Given the description of an element on the screen output the (x, y) to click on. 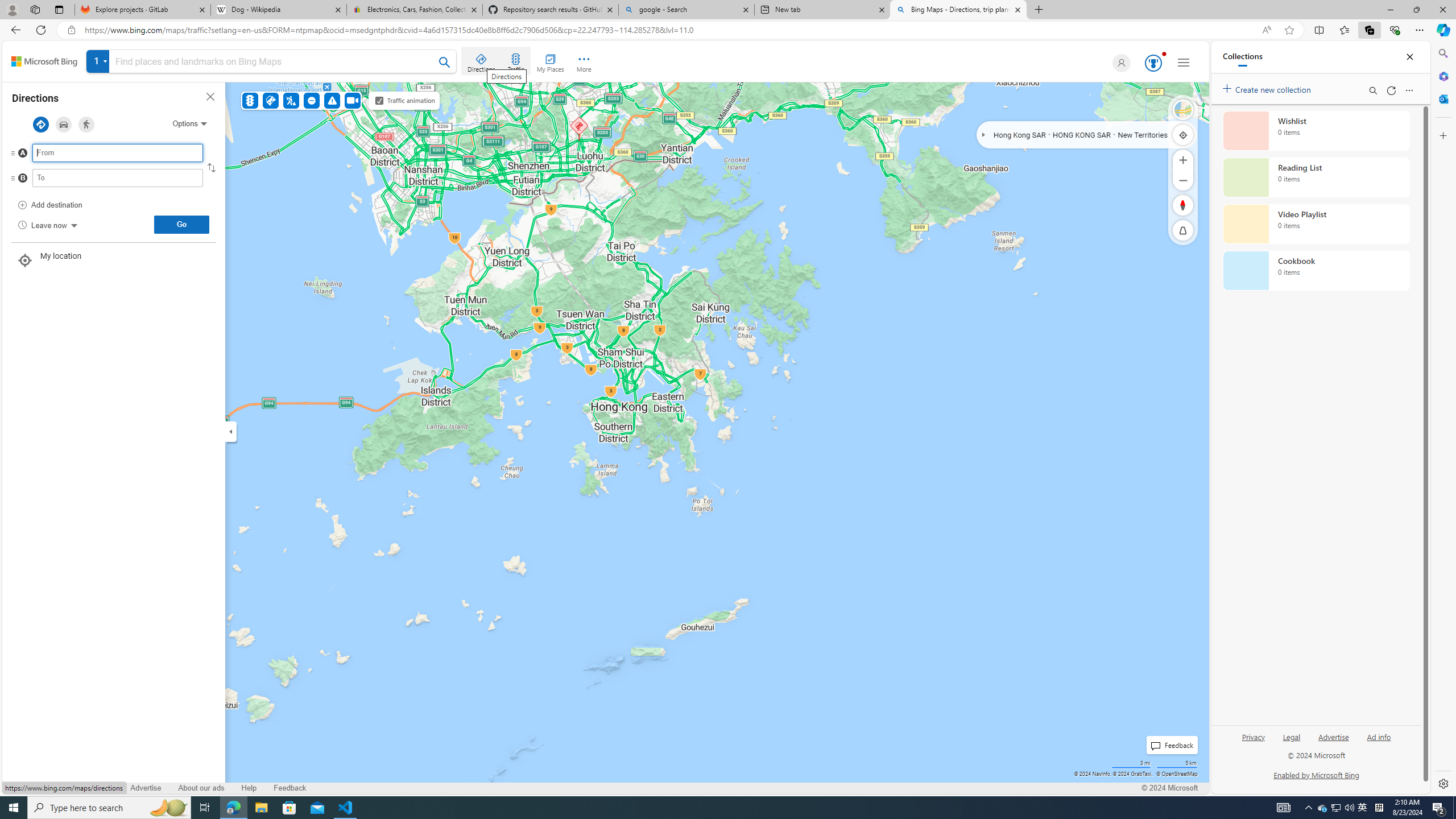
Zoom Out (1182, 180)
Traffic (514, 60)
Reverse (210, 166)
More (583, 60)
Add a search (274, 60)
Add destination (49, 204)
My Places (549, 60)
About our ads (200, 787)
Traffic (249, 100)
